Given the description of an element on the screen output the (x, y) to click on. 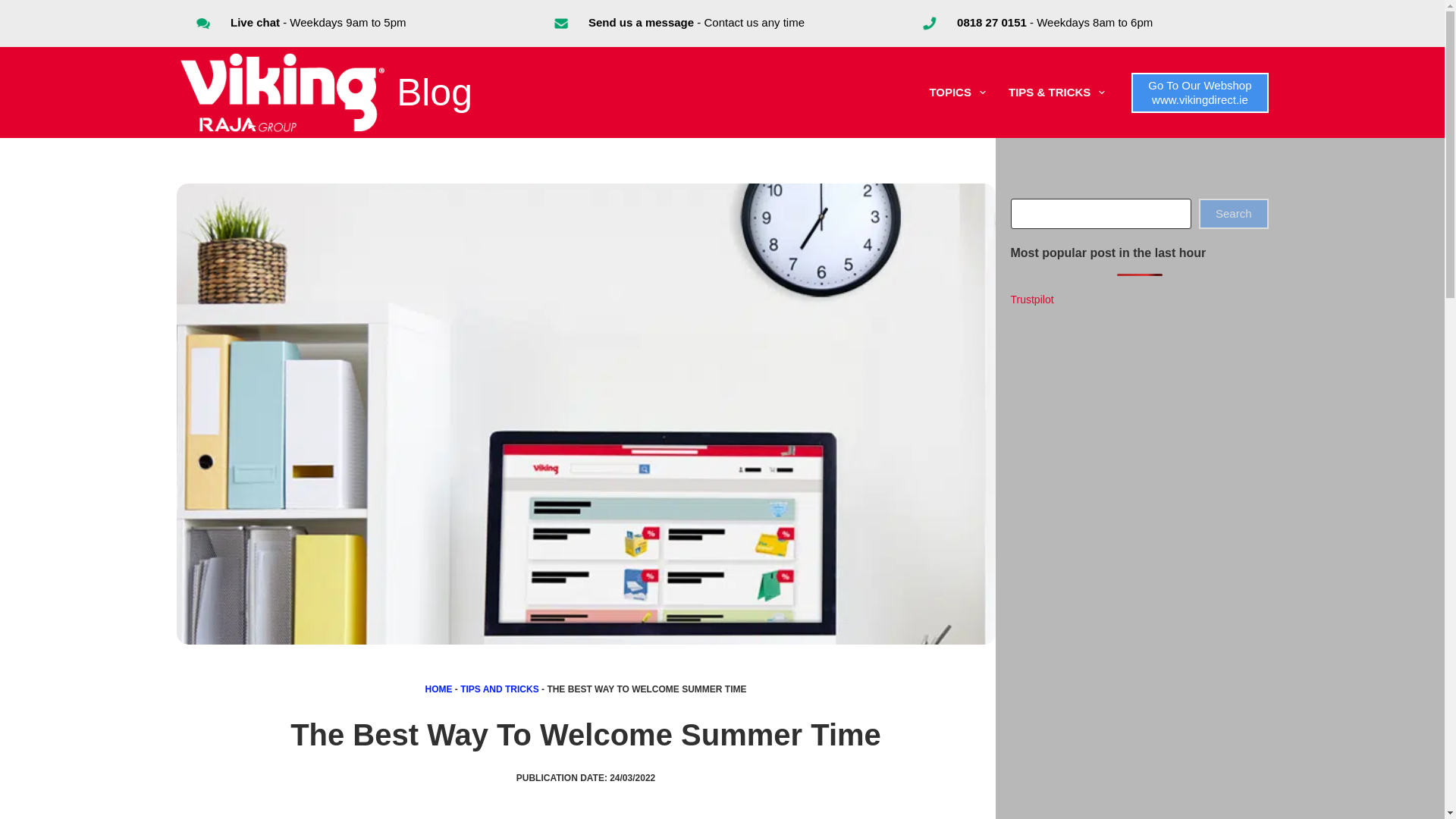
Live chat - Weekdays 9am to 5pm (318, 21)
The Best Way to Welcome Summer Time (585, 734)
0818 27 0151 - Weekdays 8am to 6pm (1054, 21)
Send us a message - Contact us any time (696, 21)
Blog (433, 92)
Skip to content (15, 7)
